Given the description of an element on the screen output the (x, y) to click on. 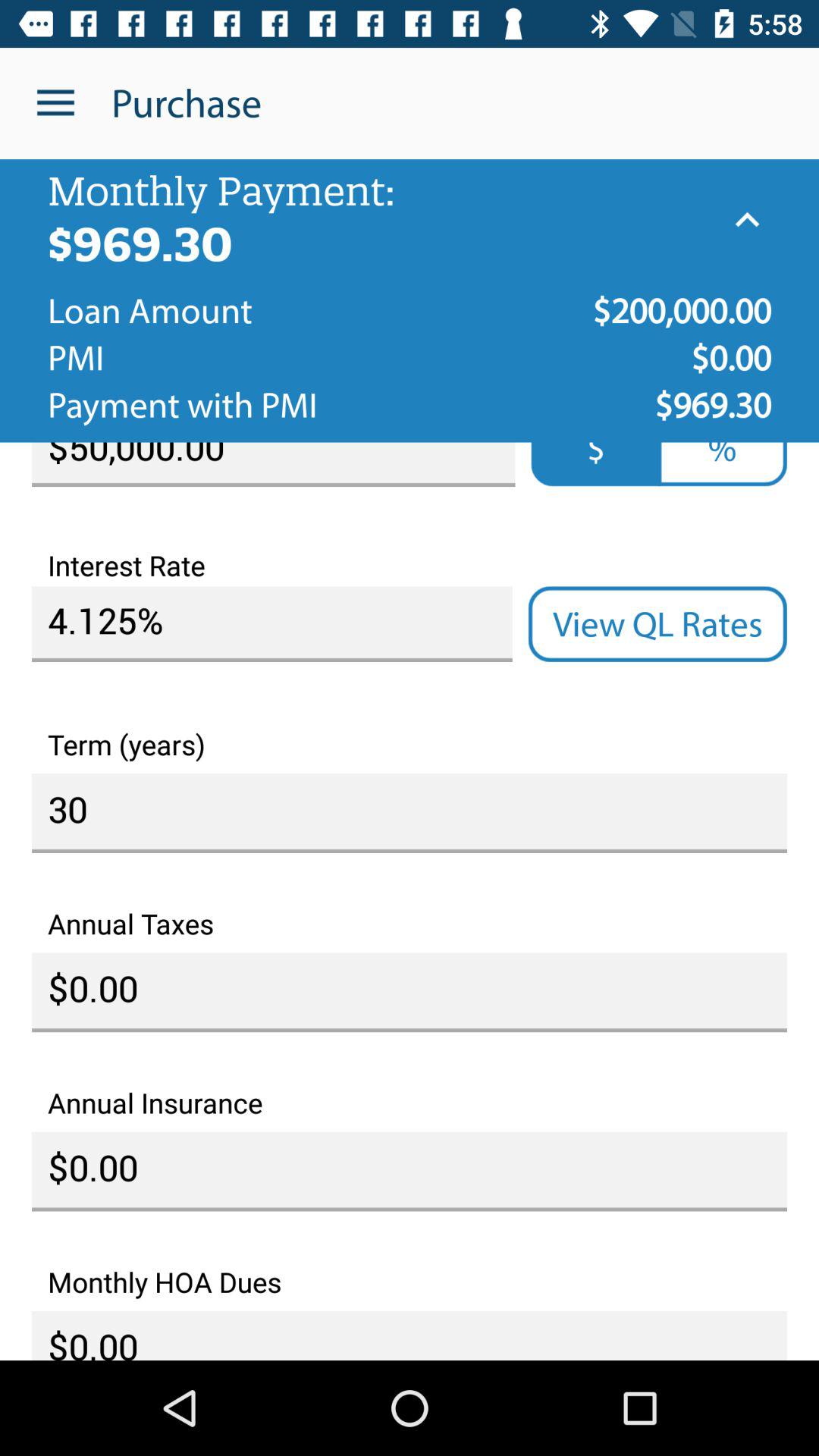
launch the item above monthly payment: icon (55, 103)
